Given the description of an element on the screen output the (x, y) to click on. 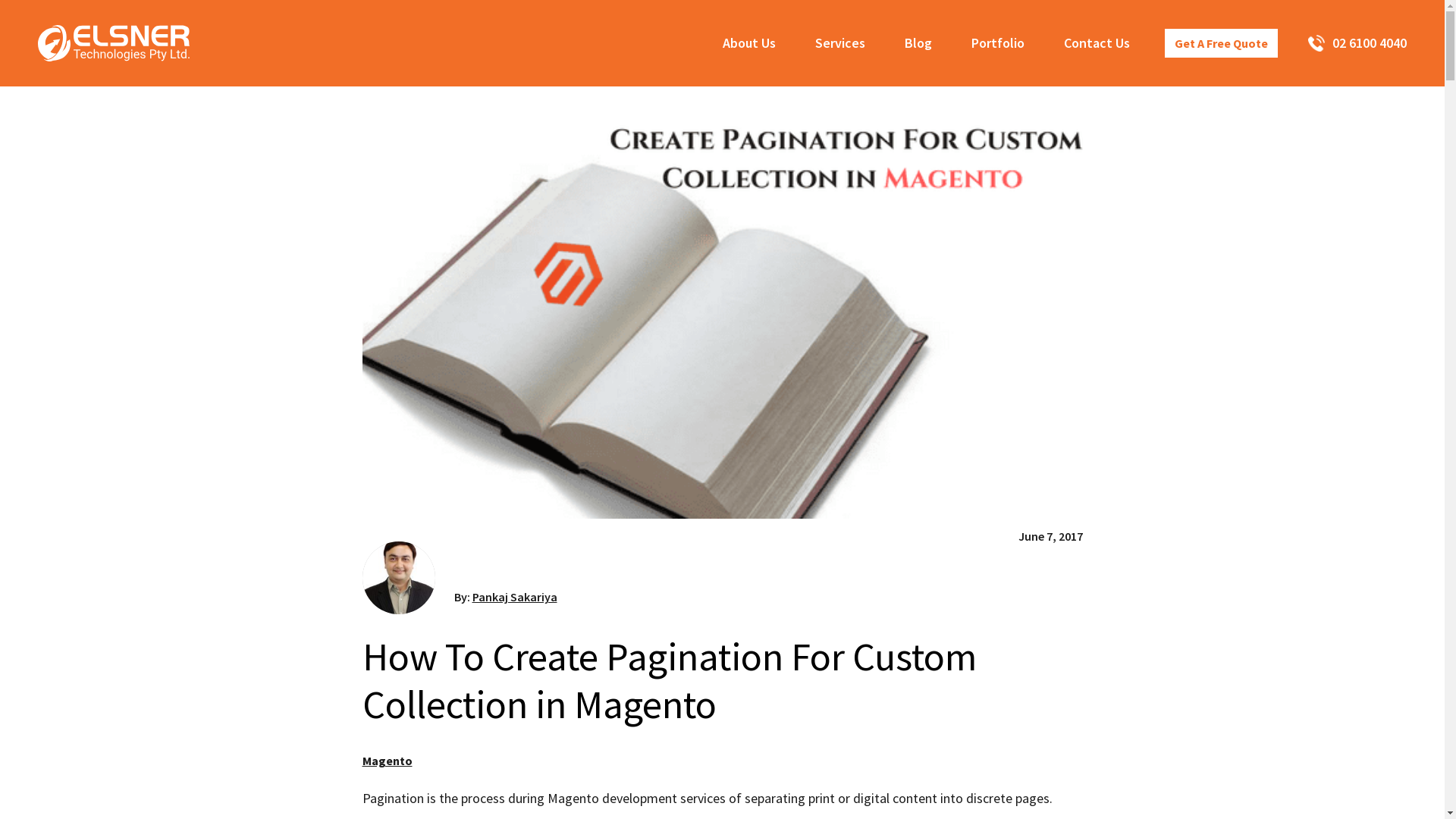
About Us Element type: text (748, 42)
Get A Free Quote Element type: text (1220, 42)
Magento Element type: text (387, 760)
Portfolio Element type: text (997, 42)
02 6100 4040 Element type: text (1349, 42)
Contact Us Element type: text (1096, 42)
Blog Element type: text (917, 42)
Pankaj Sakariya Element type: text (513, 596)
Services Element type: text (840, 42)
